Given the description of an element on the screen output the (x, y) to click on. 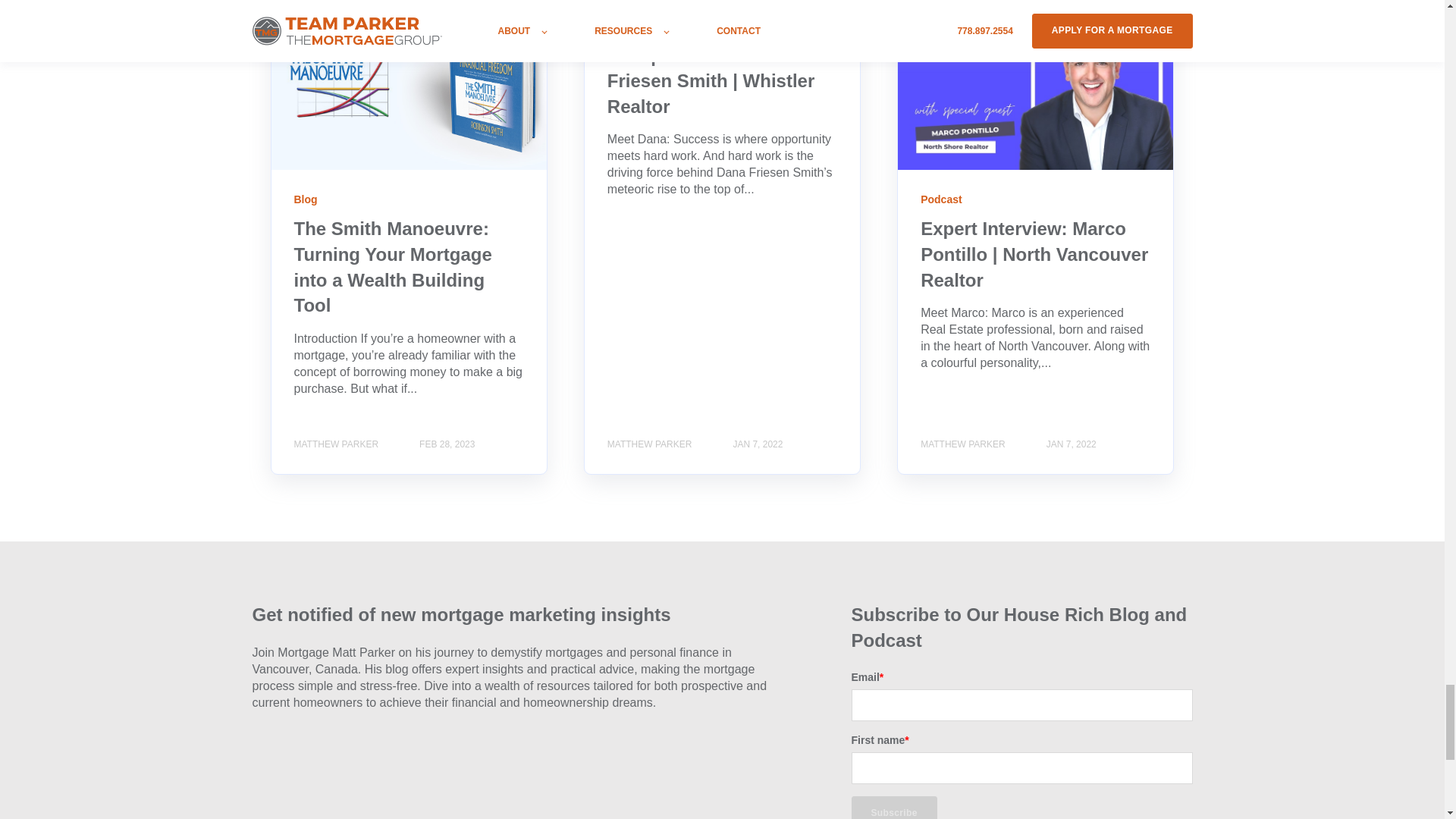
Subscribe (893, 807)
Subscribe (893, 807)
